Given the description of an element on the screen output the (x, y) to click on. 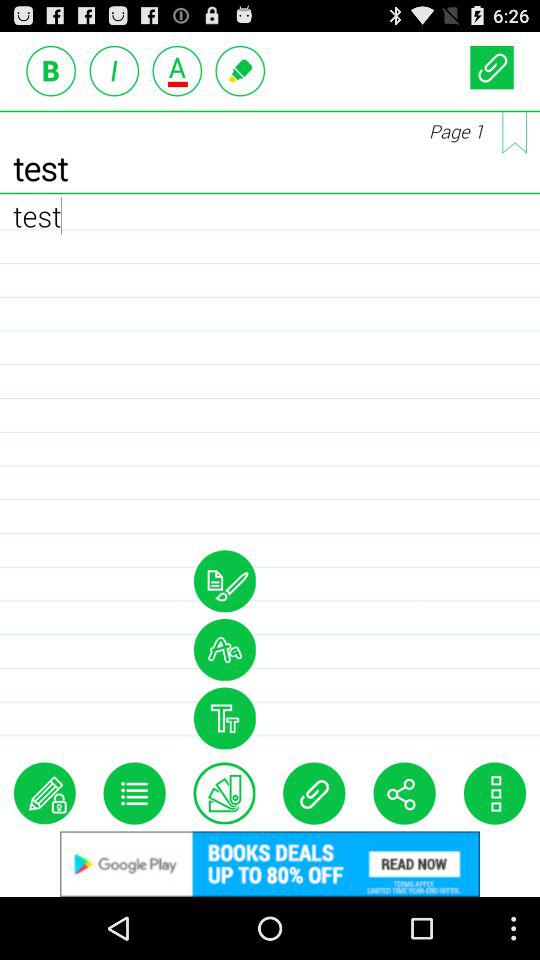
pin or clip button (491, 66)
